Given the description of an element on the screen output the (x, y) to click on. 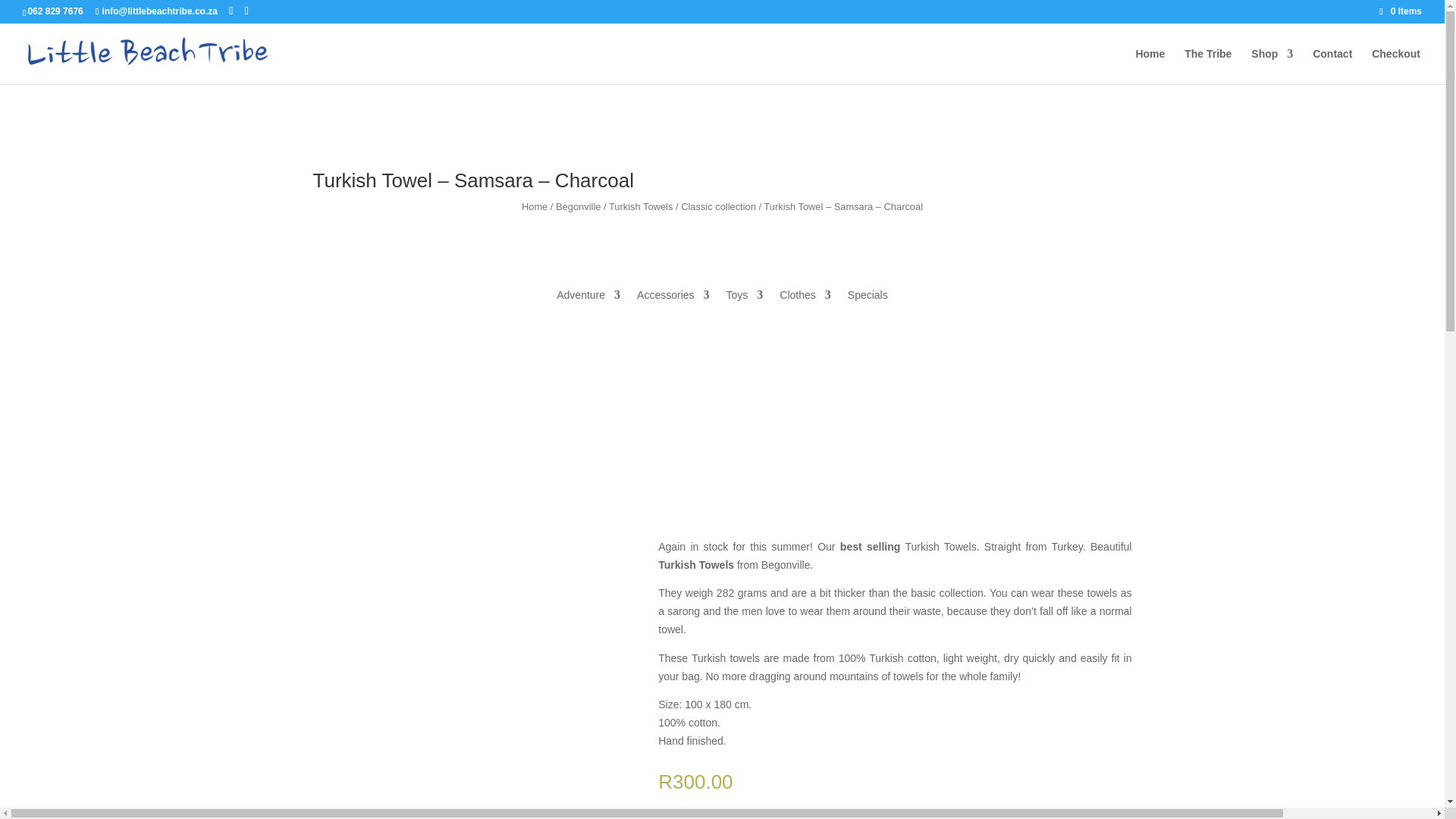
0 Items (1400, 10)
Checkout (1396, 66)
Classic collection (718, 206)
Home (534, 206)
Turkish Towels (640, 206)
Begonville (577, 206)
Accessories (673, 297)
Contact (1332, 66)
Shop (1271, 66)
Adventure (588, 297)
The Tribe (1208, 66)
